Given the description of an element on the screen output the (x, y) to click on. 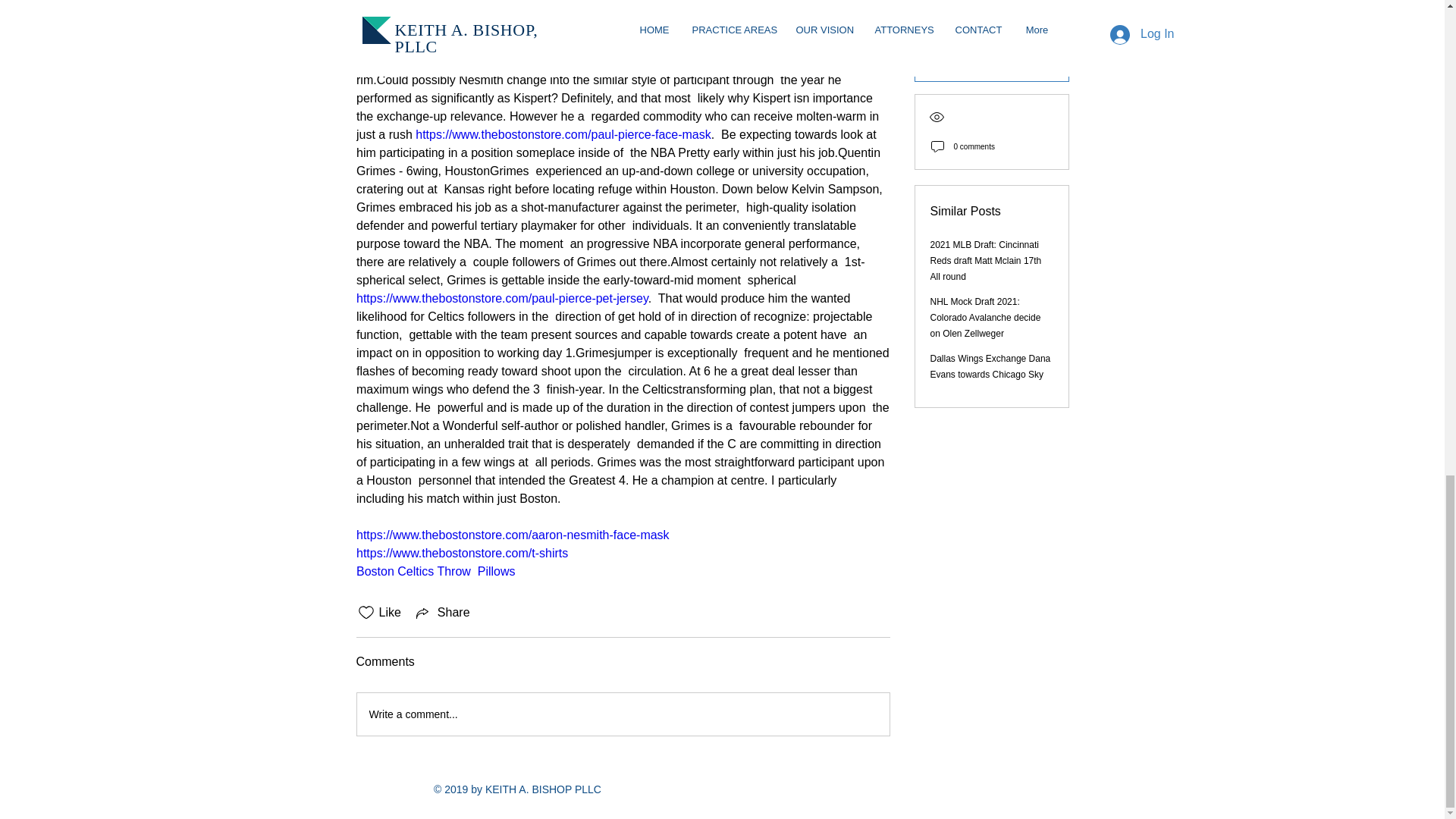
Boston Celtics Throw  Pillows (435, 571)
Share (441, 612)
Write a comment... (622, 713)
